Given the description of an element on the screen output the (x, y) to click on. 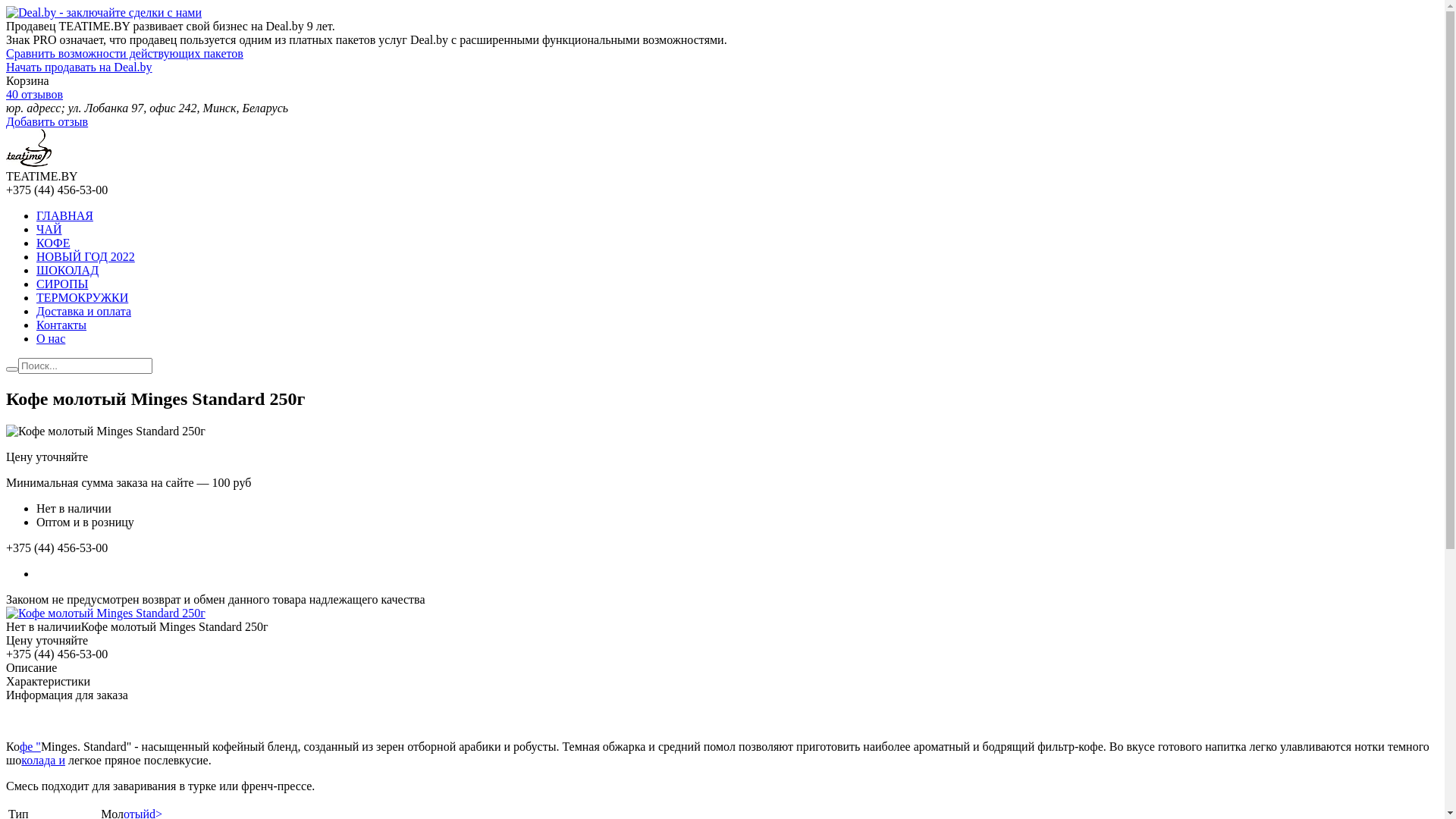
TEATIME.BY Element type: hover (28, 162)
